Given the description of an element on the screen output the (x, y) to click on. 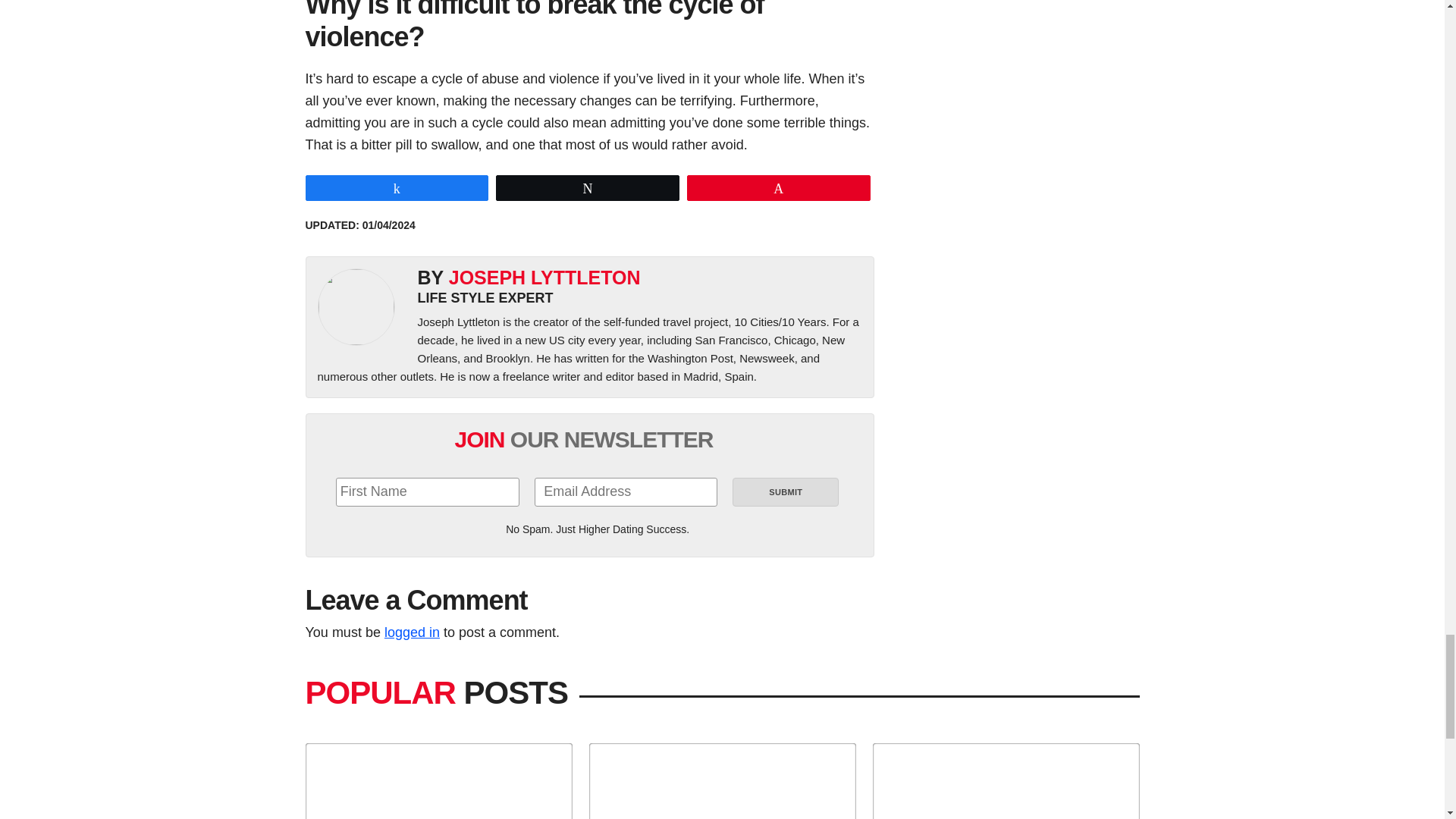
Submit (785, 491)
